Given the description of an element on the screen output the (x, y) to click on. 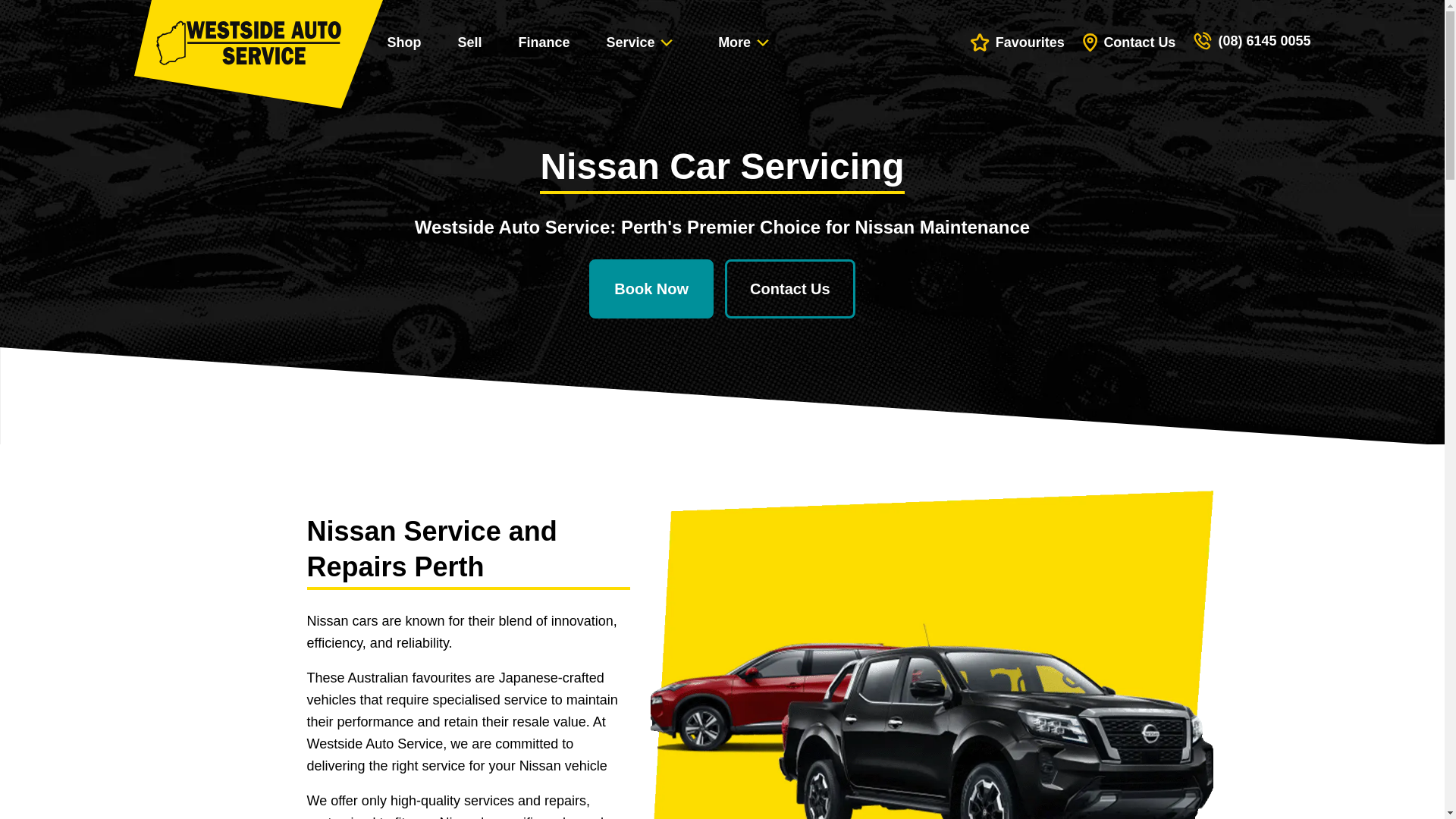
Service (644, 42)
Favourites (1017, 42)
Book Now (651, 288)
Favourites (1017, 42)
More (748, 42)
Contact Us (1129, 42)
Shop (403, 42)
Contact us (1129, 42)
Contact Us (790, 288)
Finance (544, 42)
Sell (469, 42)
